Given the description of an element on the screen output the (x, y) to click on. 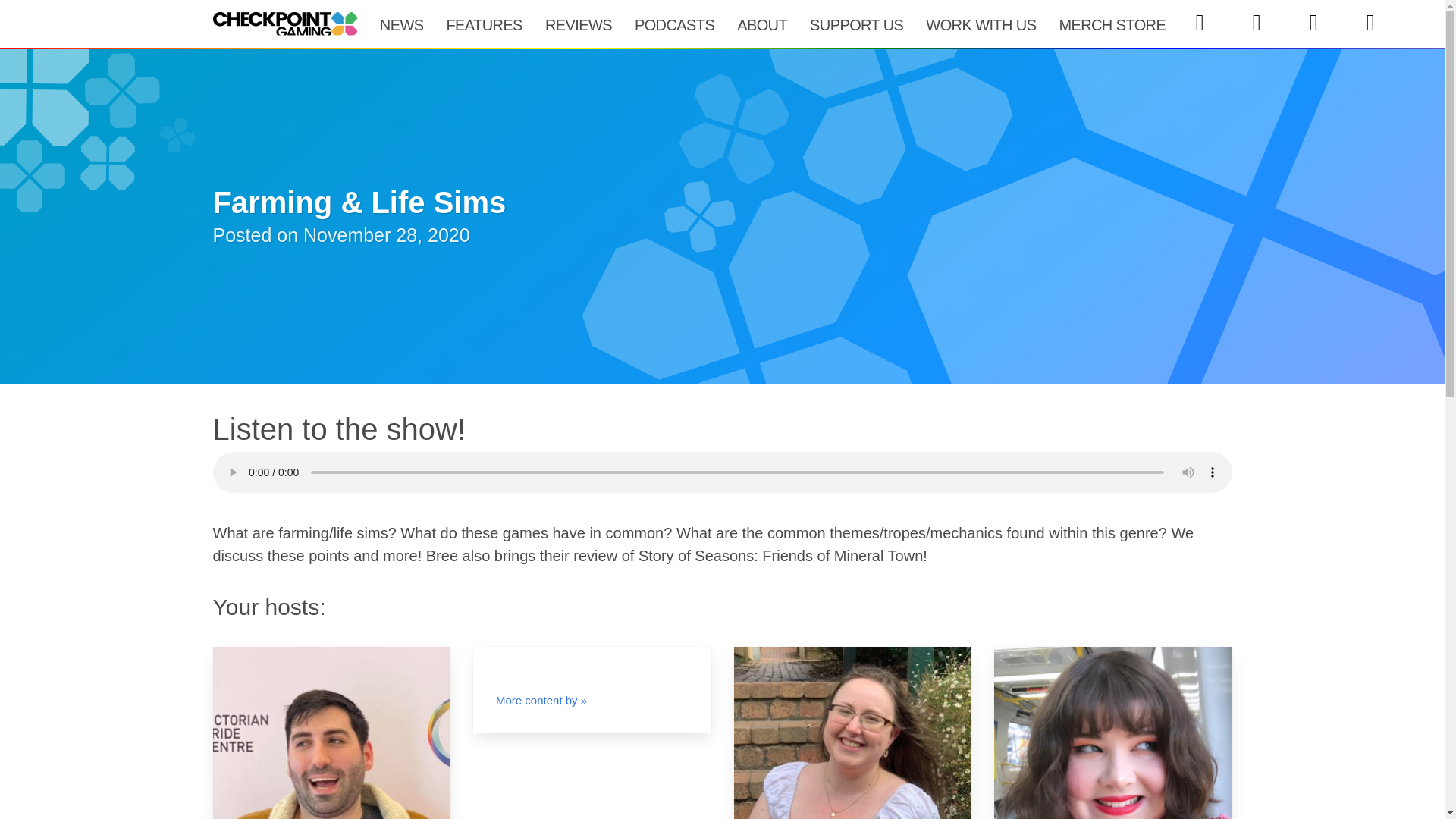
PODCASTS (674, 24)
ABOUT (761, 24)
SUPPORT US (855, 24)
NEWS (401, 24)
REVIEWS (578, 24)
WORK WITH US (980, 24)
FEATURES (482, 24)
MERCH STORE (1111, 24)
